Given the description of an element on the screen output the (x, y) to click on. 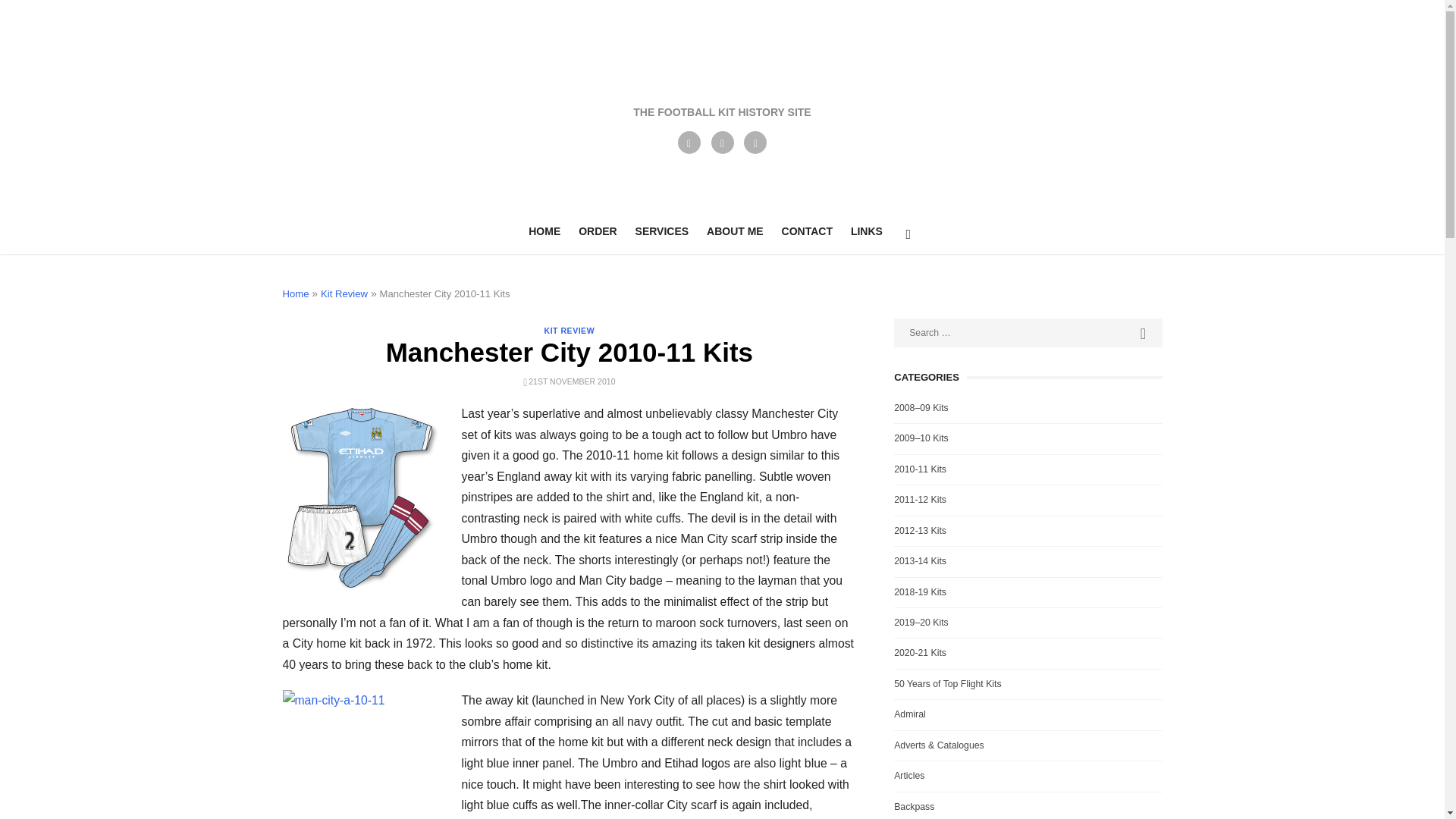
man-city-a-10-11 (360, 754)
HOME (544, 231)
21ST NOVEMBER 2010 (571, 380)
ABOUT ME (734, 231)
LINKS (866, 231)
Kit Review (344, 293)
KIT REVIEW (569, 329)
Home (295, 293)
SERVICES (662, 231)
CONTACT (807, 231)
ORDER (597, 231)
